Given the description of an element on the screen output the (x, y) to click on. 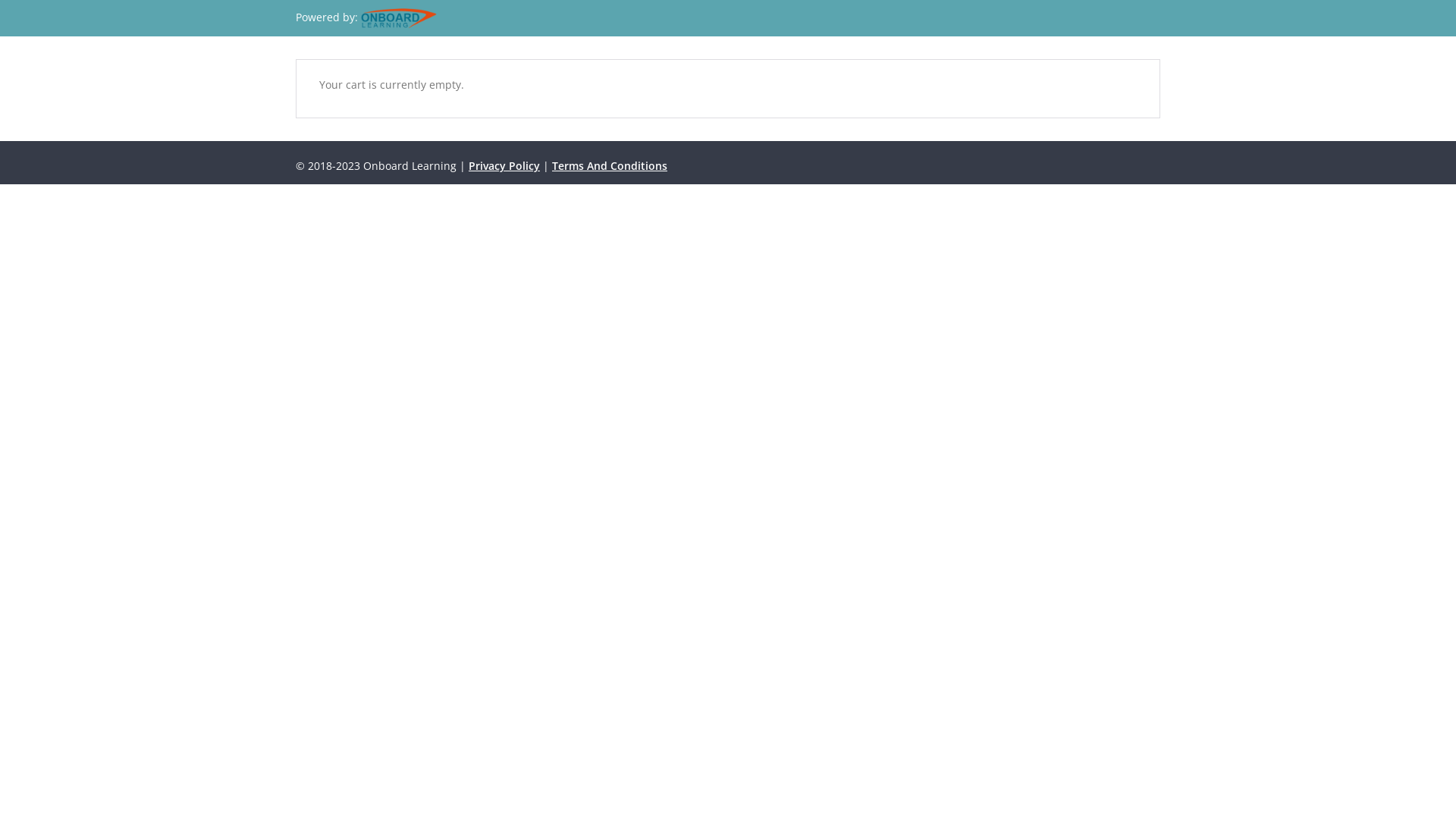
Terms And Conditions Element type: text (609, 165)
Privacy Policy Element type: text (503, 165)
